Given the description of an element on the screen output the (x, y) to click on. 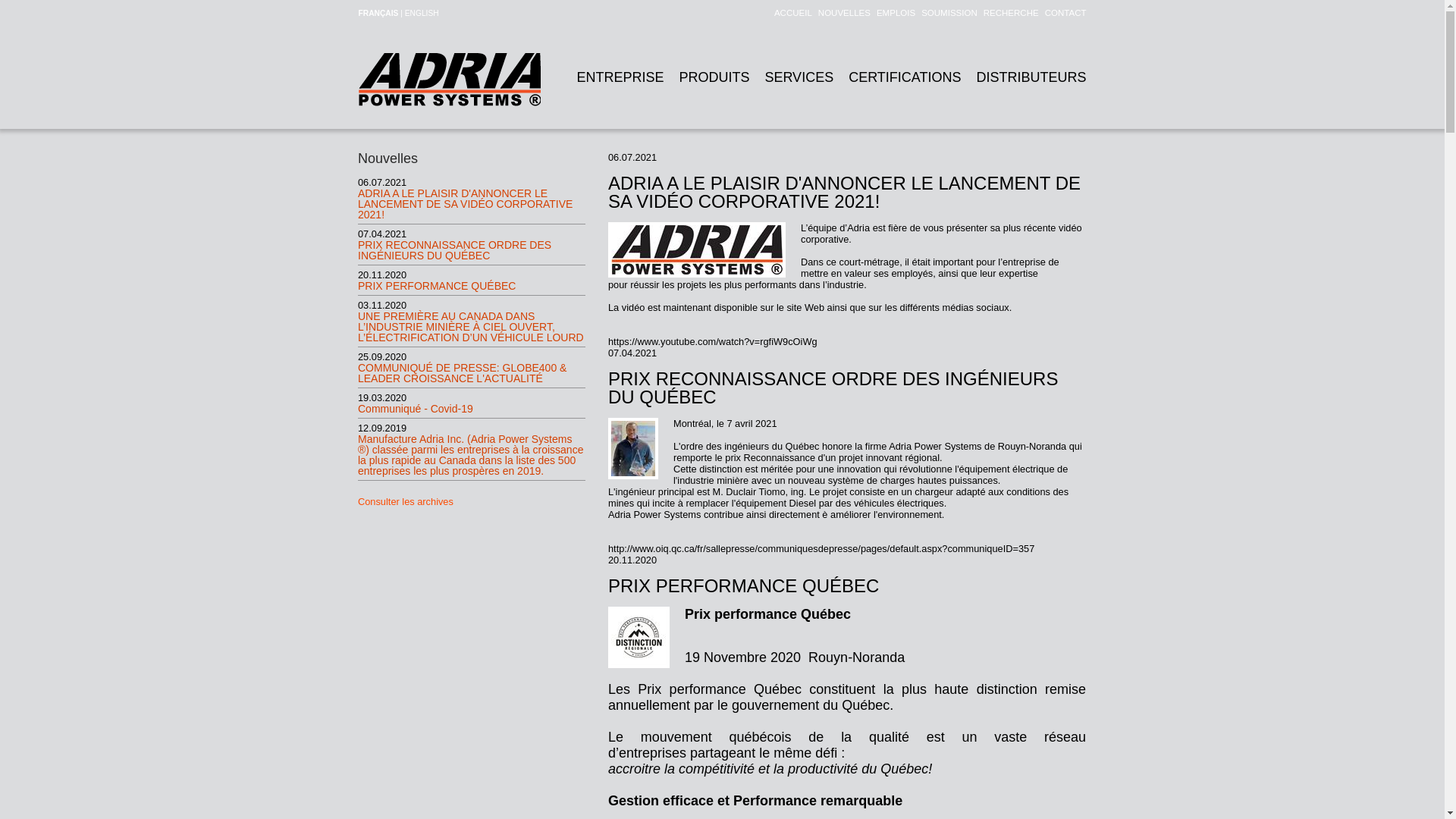
NOUVELLES Element type: text (841, 12)
CONTACT Element type: text (1062, 12)
RECHERCHE Element type: text (1007, 12)
CERTIFICATIONS Element type: text (904, 76)
DISTRIBUTEURS Element type: text (1030, 76)
SERVICES Element type: text (798, 76)
PRODUITS Element type: text (713, 76)
ENTREPRISE Element type: text (619, 76)
SOUMISSION Element type: text (946, 12)
Consulter les archives Element type: text (405, 501)
ENGLISH Element type: text (421, 13)
EMPLOIS Element type: text (892, 12)
ACCUEIL Element type: text (790, 12)
